Given the description of an element on the screen output the (x, y) to click on. 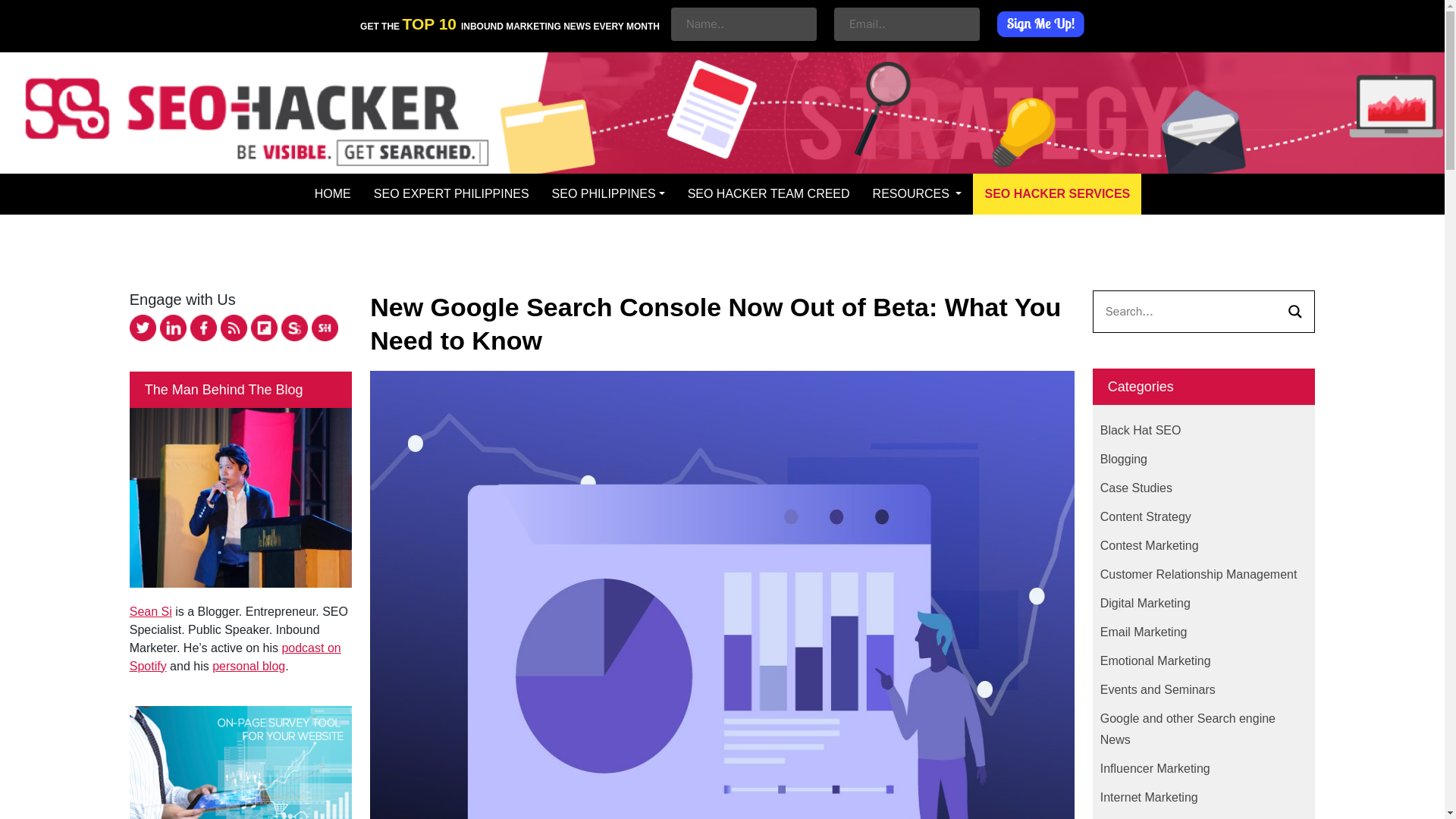
personal blog (248, 666)
HOME (332, 193)
SEO EXPERT PHILIPPINES (451, 193)
SEO PHILIPPINES (608, 193)
RESOURCES (917, 193)
podcast on Spotify (234, 656)
SEO HACKER SERVICES (1056, 193)
SEO HACKER TEAM CREED (769, 193)
Sean Si (150, 611)
